Given the description of an element on the screen output the (x, y) to click on. 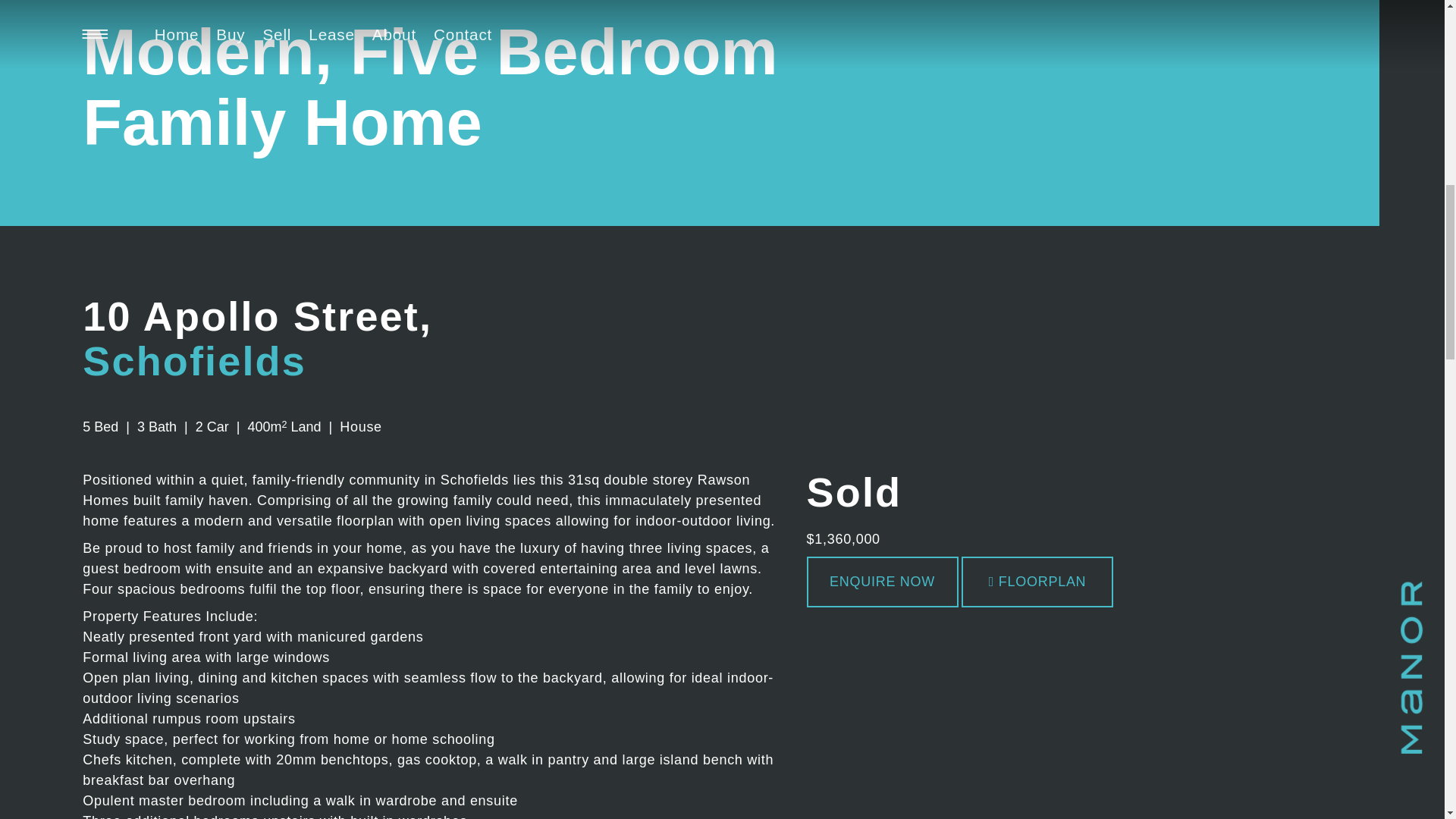
FLOORPLAN (1036, 581)
ENQUIRE NOW (882, 581)
